Given the description of an element on the screen output the (x, y) to click on. 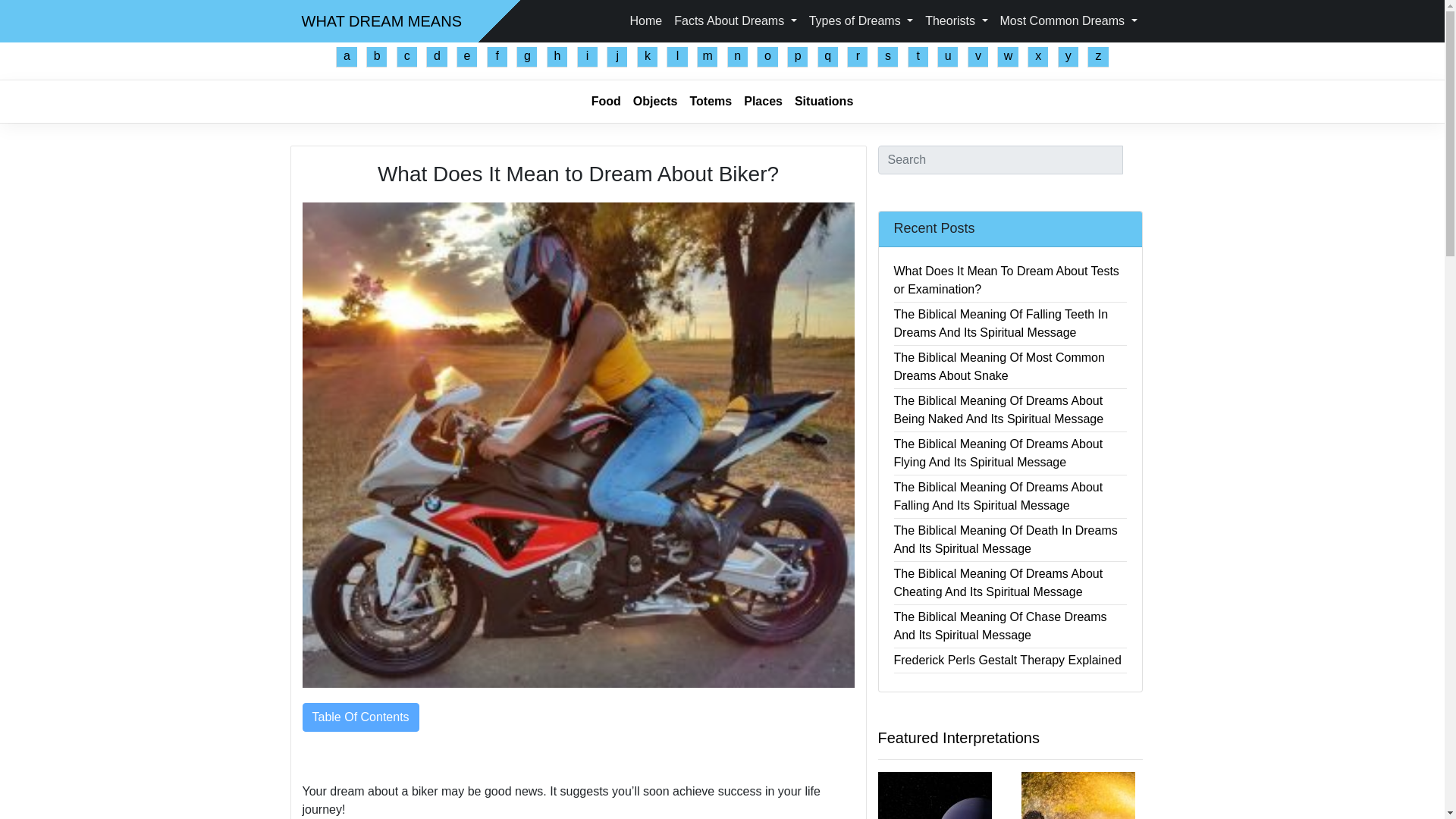
b (376, 56)
a (346, 56)
Facts About Dreams (735, 20)
c (406, 56)
Home (646, 20)
Types of Dreams (860, 20)
d (436, 56)
e (467, 56)
WHAT DREAM MEANS (382, 20)
Most Common Dreams (1067, 20)
Theorists (955, 20)
